Given the description of an element on the screen output the (x, y) to click on. 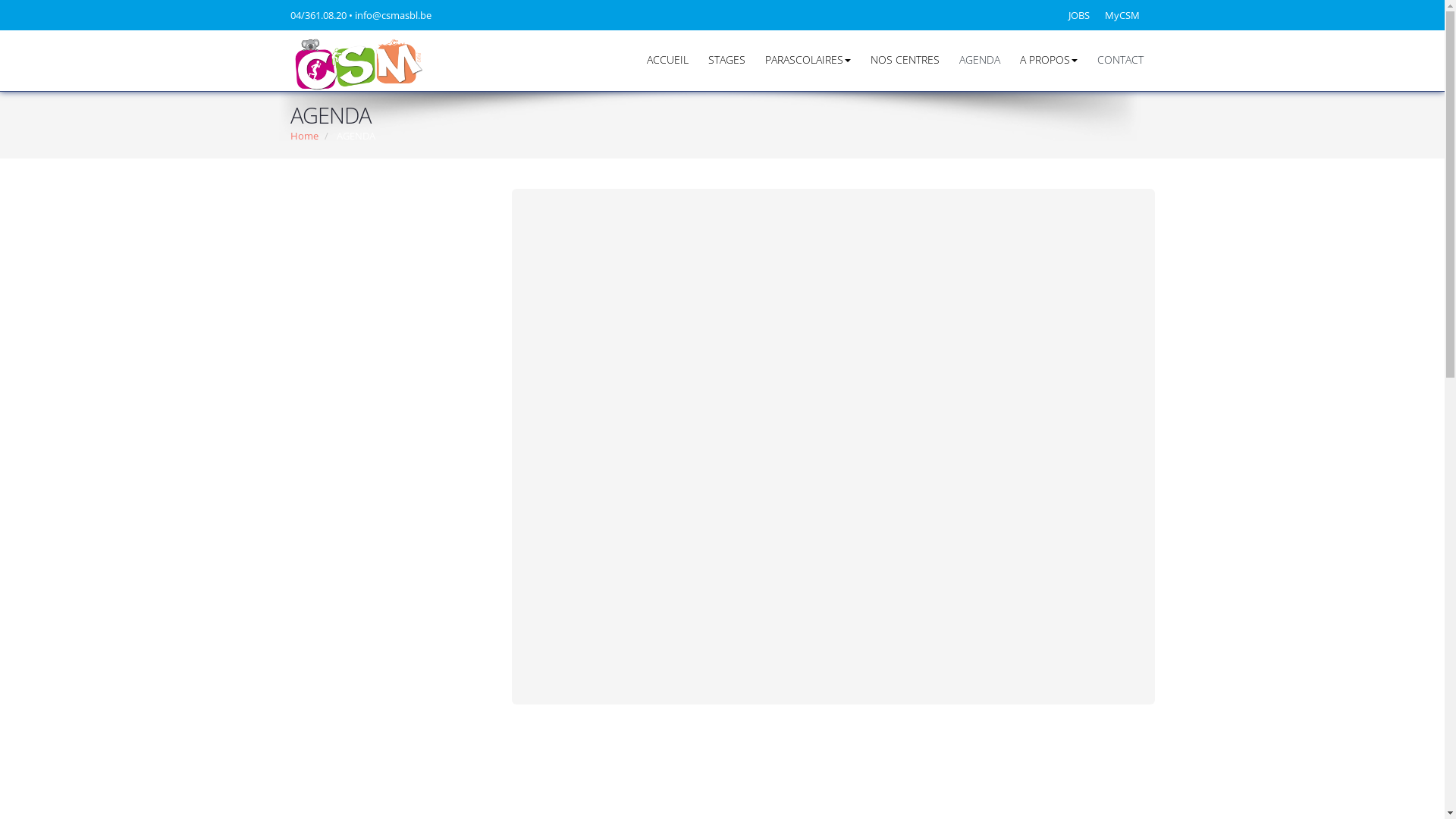
JOBS Element type: text (1081, 14)
AGENDA Element type: text (979, 59)
A PROPOS Element type: text (1048, 59)
MyCSM Element type: text (1125, 14)
Home Element type: text (303, 135)
CONTACT Element type: text (1114, 59)
ACCUEIL Element type: text (667, 59)
info@csmasbl.be Element type: text (396, 14)
STAGES Element type: text (726, 59)
NOS CENTRES Element type: text (904, 59)
PARASCOLAIRES Element type: text (807, 59)
